Given the description of an element on the screen output the (x, y) to click on. 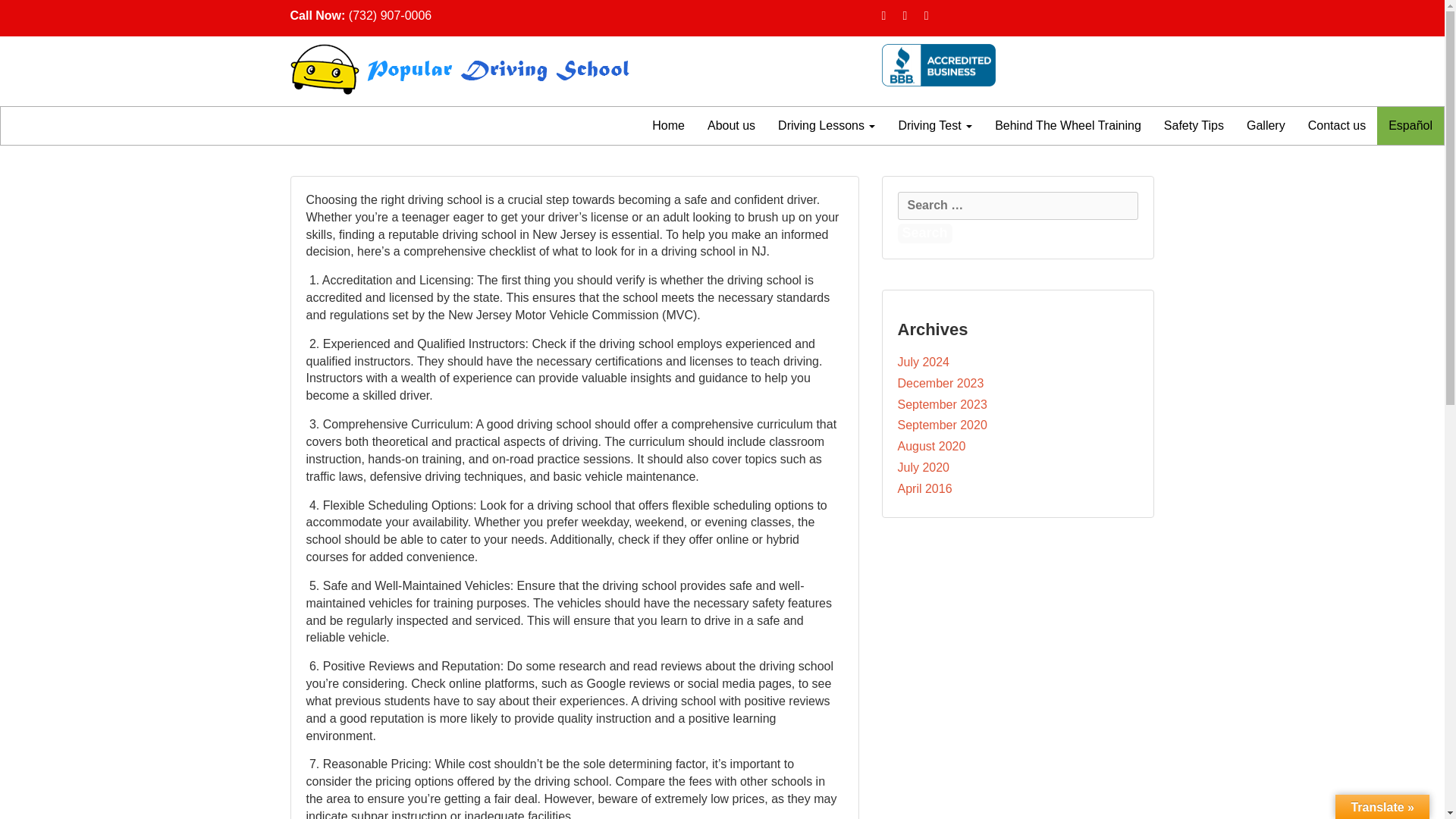
About us (731, 125)
Contact us (1337, 125)
Home (667, 125)
Home (667, 125)
Behind The Wheel Training (1068, 125)
Safety Tips (1193, 125)
Search (925, 233)
Behind The Wheel Training (1068, 125)
Gallery (1265, 125)
September 2020 (942, 424)
